Given the description of an element on the screen output the (x, y) to click on. 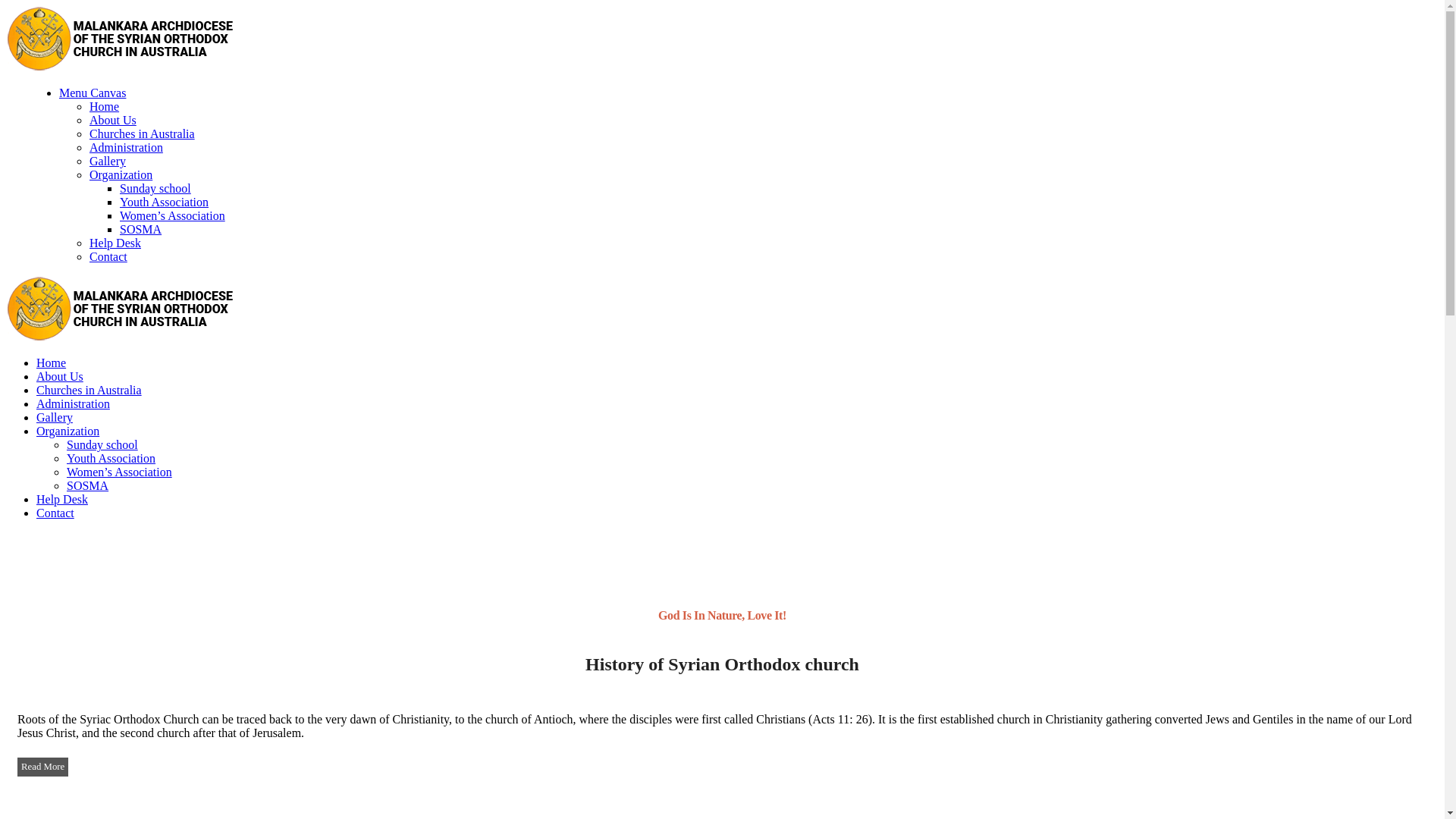
Sunday school Element type: text (155, 188)
Home Element type: text (104, 106)
Menu Canvas Element type: text (92, 92)
Help Desk Element type: text (61, 498)
Churches in Australia Element type: text (88, 389)
Youth Association Element type: text (110, 457)
Gallery Element type: text (54, 417)
About Us Element type: text (59, 376)
Contact Element type: text (55, 512)
Gallery Element type: text (107, 160)
Home Element type: text (50, 362)
Administration Element type: text (126, 147)
Churches in Australia Element type: text (141, 133)
Youth Association Element type: text (163, 201)
About Us Element type: text (112, 119)
Administration Element type: text (72, 403)
Organization Element type: text (67, 430)
Organization Element type: text (120, 174)
Contact Element type: text (108, 256)
Sunday school Element type: text (102, 444)
SOSMA Element type: text (87, 485)
SOSMA Element type: text (140, 228)
Help Desk Element type: text (115, 242)
